Given the description of an element on the screen output the (x, y) to click on. 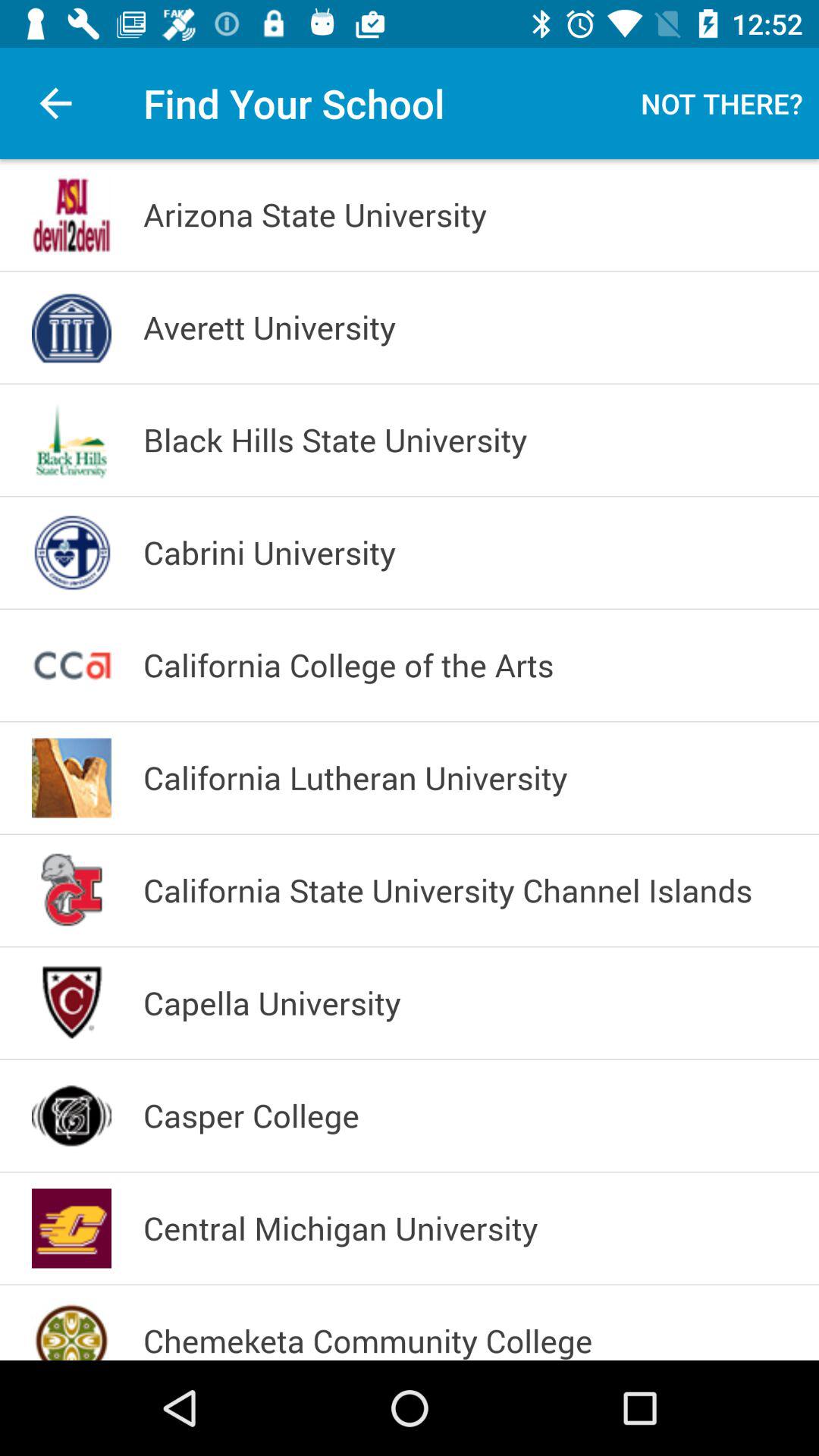
scroll until the not there? item (722, 103)
